Given the description of an element on the screen output the (x, y) to click on. 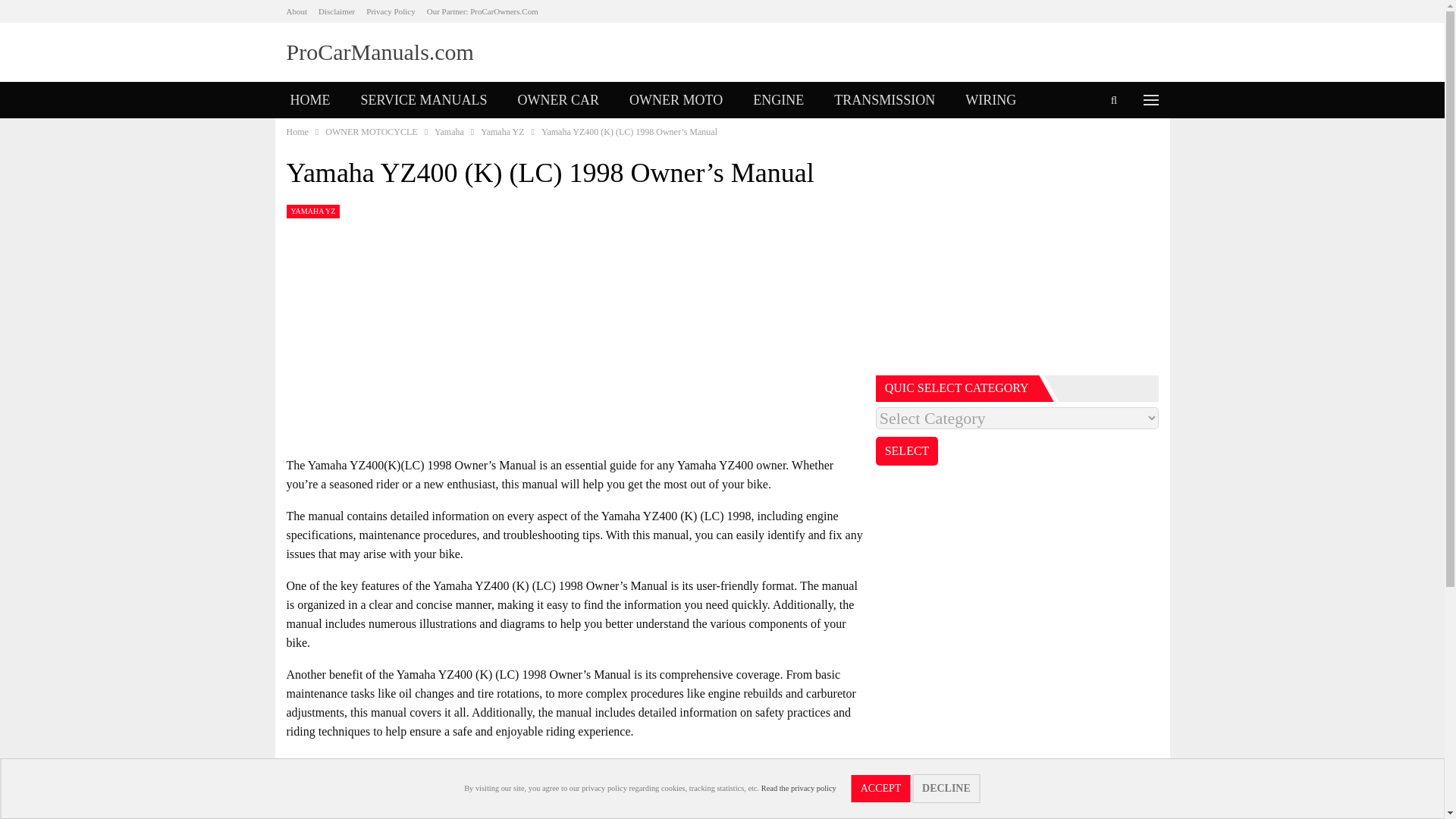
ProCarManuals.com (380, 51)
ENGINE (778, 99)
OWNER CAR (558, 99)
WIRING (990, 99)
OWNER MOTO (676, 99)
Advertisement (1017, 261)
OWNER MOTOCYCLE (370, 131)
Home (297, 131)
HOME (310, 99)
BODY (309, 135)
YAMAHA YZ (313, 211)
About (296, 10)
Yamaha YZ (502, 131)
Our Partner: ProCarOwners.Com (482, 10)
DECLINE (945, 788)
